Given the description of an element on the screen output the (x, y) to click on. 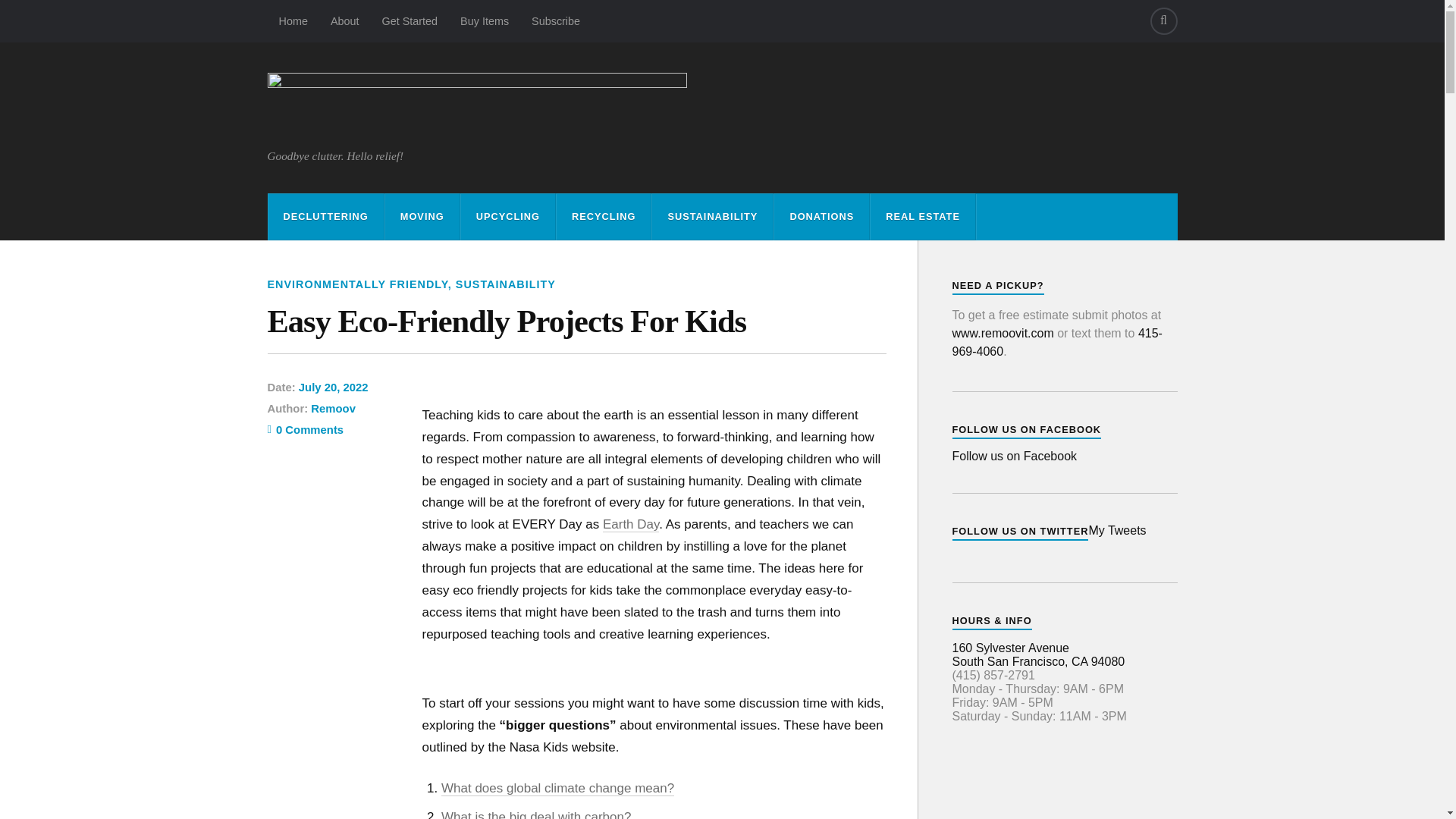
Get Started (408, 21)
0 Comments (304, 429)
Home (292, 21)
About (344, 21)
Buy Items (483, 21)
ENVIRONMENTALLY FRIENDLY (356, 284)
REAL ESTATE (922, 216)
RECYCLING (603, 216)
DECLUTTERING (325, 216)
What does global climate change mean? (557, 788)
UPCYCLING (507, 216)
MOVING (422, 216)
July 20, 2022 (333, 387)
What is the big deal with carbon? (535, 814)
DONATIONS (821, 216)
